Given the description of an element on the screen output the (x, y) to click on. 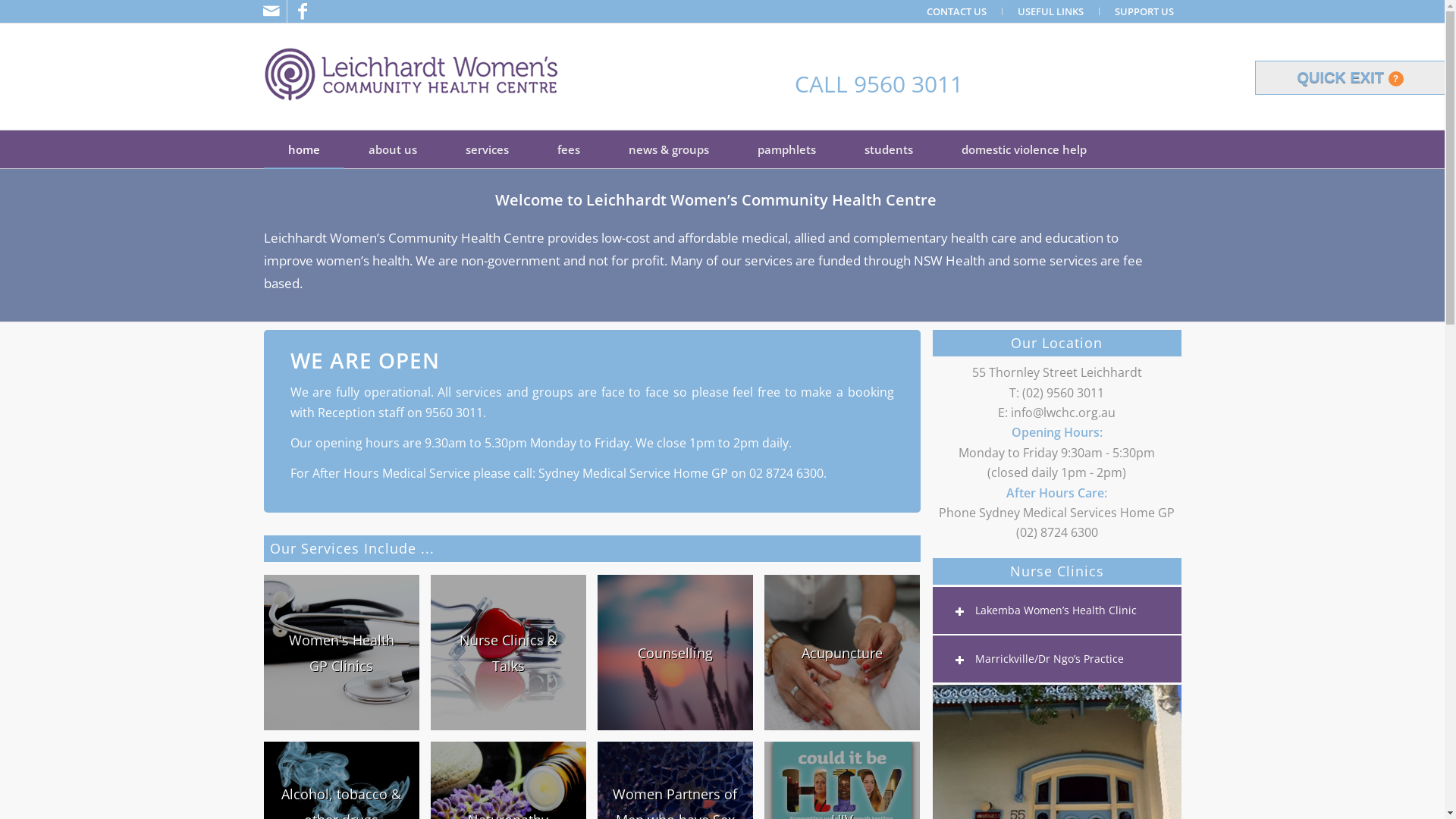
Acupuncture Element type: text (847, 657)
? Element type: text (1394, 78)
news & groups Element type: text (667, 149)
QUICK EXIT ? Element type: text (1349, 77)
Nurse Clinics & Talks Element type: text (513, 657)
Counselling Element type: hover (675, 652)
Facebook Element type: hover (301, 11)
General Practitioner Clinics Element type: hover (341, 652)
Nurse Clinics & Talks Element type: hover (508, 652)
Counselling Element type: text (680, 657)
pamphlets Element type: text (785, 149)
Women's Health GP Clinics Element type: text (346, 657)
Mail Element type: hover (270, 11)
home Element type: text (303, 149)
CALL 9560 3011 Element type: text (878, 83)
students Element type: text (888, 149)
Acupuncture Element type: hover (841, 652)
fees Element type: text (567, 149)
info@lwchc.org.au Element type: text (1062, 412)
about us Element type: text (392, 149)
domestic violence help Element type: text (1023, 149)
services Element type: text (487, 149)
